Given the description of an element on the screen output the (x, y) to click on. 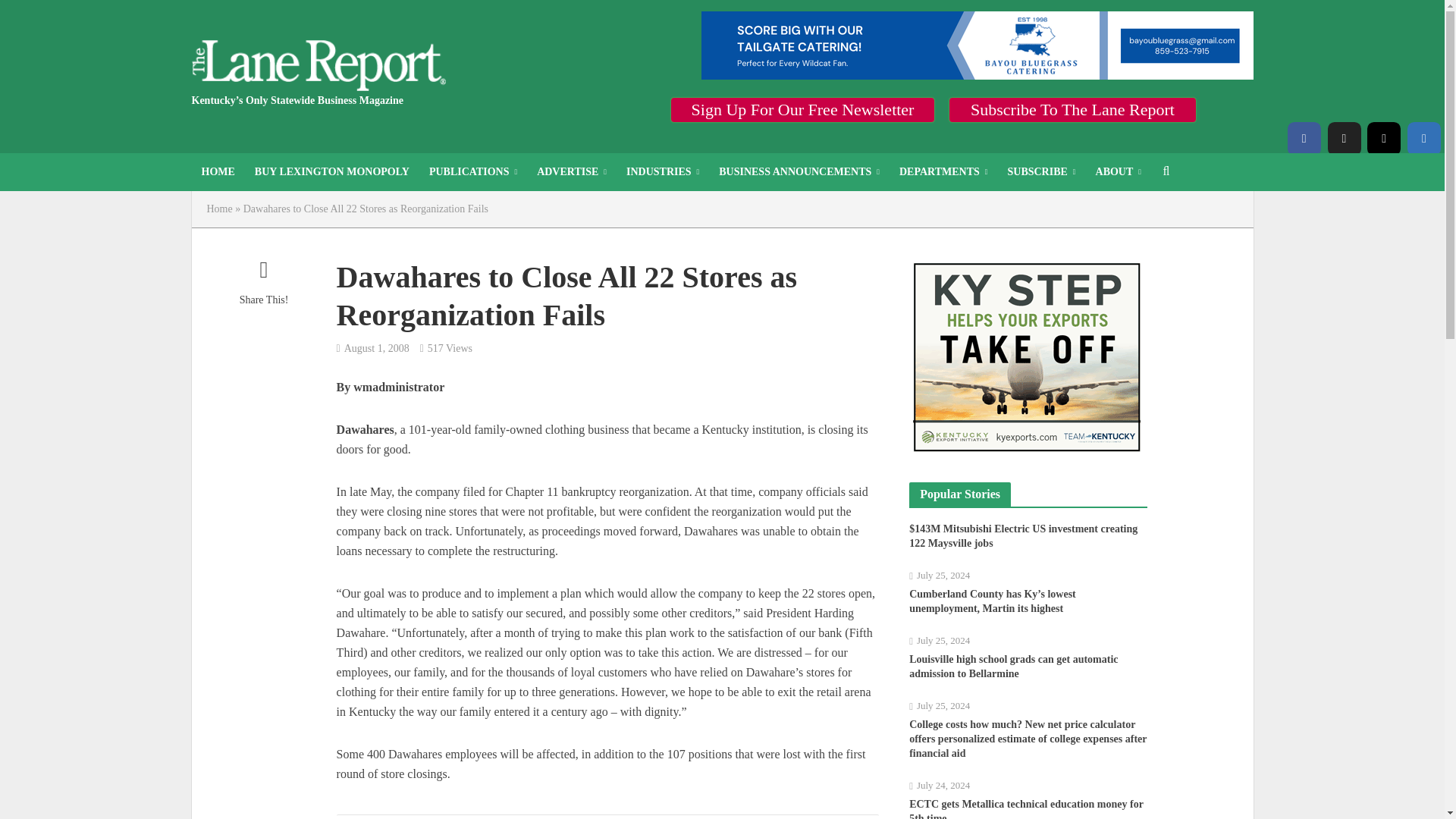
ADVERTISE (571, 171)
Subscribe To The Lane Report (1072, 109)
INDUSTRIES (662, 171)
instagram (1383, 138)
Linkedin (1424, 138)
Instagram (1383, 138)
facebook (1303, 138)
Sign Up For Our Free Newsletter (802, 109)
PUBLICATIONS (473, 171)
Facebook (1303, 138)
HOME (217, 171)
twitter (1342, 138)
Subscribe To The Lane Report (1072, 109)
BUY LEXINGTON MONOPOLY (331, 171)
linkedin (1424, 138)
